Given the description of an element on the screen output the (x, y) to click on. 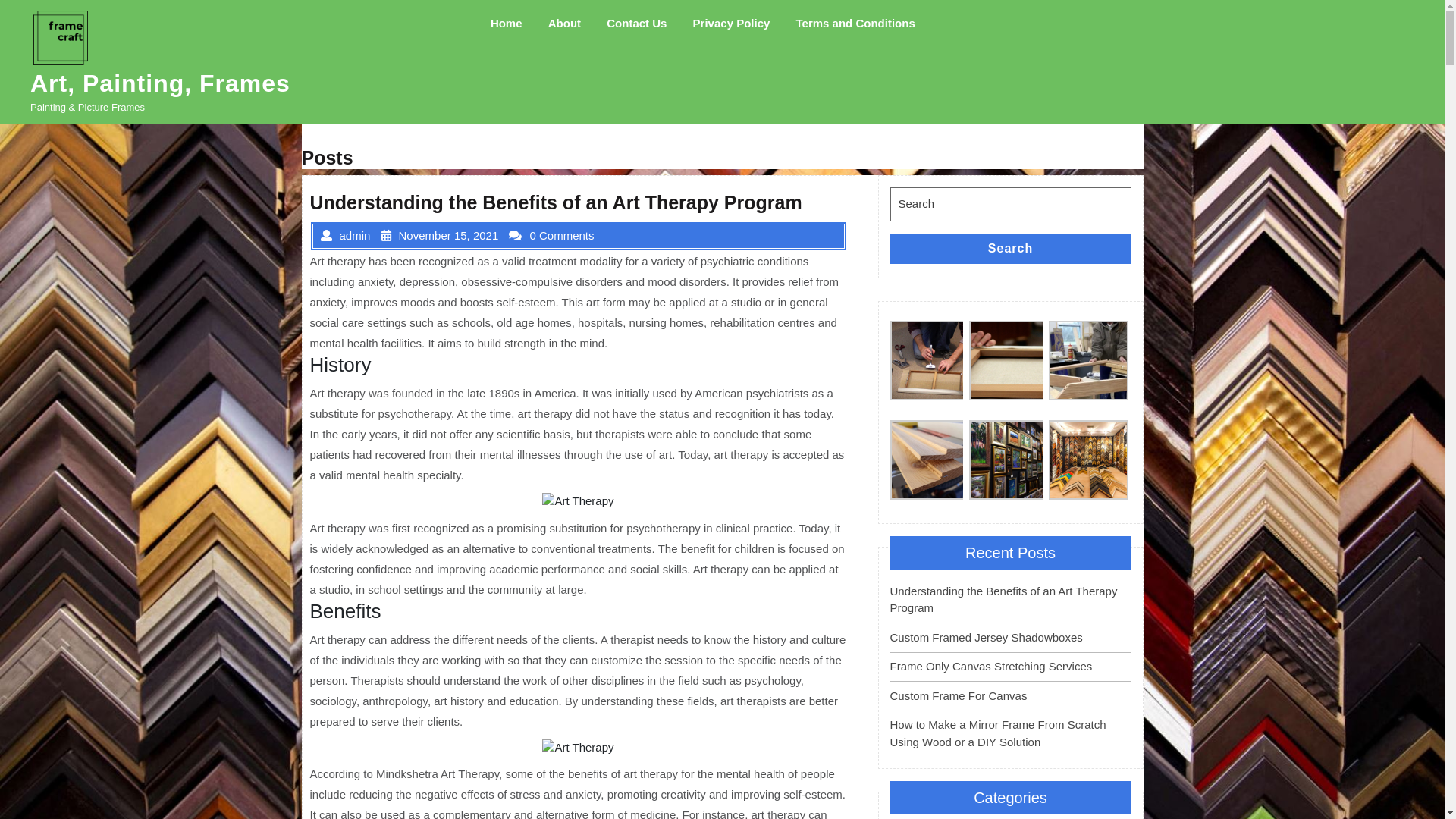
Frame Only Canvas Stretching Services Element type: text (991, 665)
Custom Frame For Canvas Element type: text (958, 695)
About Element type: text (564, 23)
Privacy Policy Element type: text (731, 23)
Art, Painting, Frames Element type: text (160, 83)
Home Element type: text (506, 23)
Contact Us Element type: text (636, 23)
Search Element type: text (1010, 248)
Custom Framed Jersey Shadowboxes Element type: text (986, 636)
Understanding the Benefits of an Art Therapy Program Element type: text (1003, 599)
Terms and Conditions Element type: text (854, 23)
